Given the description of an element on the screen output the (x, y) to click on. 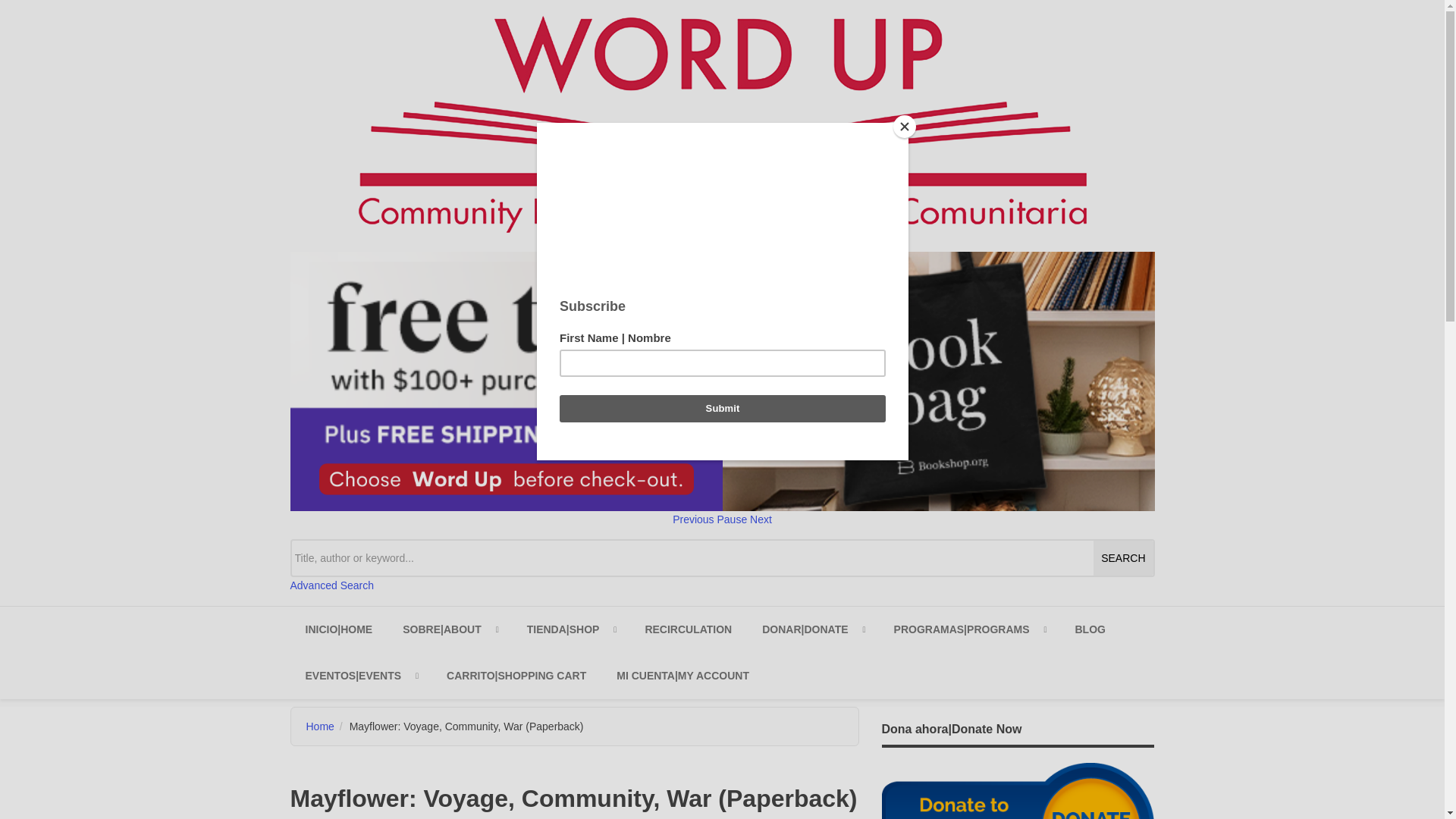
RECIRCULATION (687, 629)
Title, author or keyword... (721, 557)
Pause (731, 519)
Previous (692, 519)
search (1123, 557)
Goes to home page (338, 629)
Next (760, 519)
Home (721, 122)
search (1123, 557)
Advanced Search (331, 585)
